Given the description of an element on the screen output the (x, y) to click on. 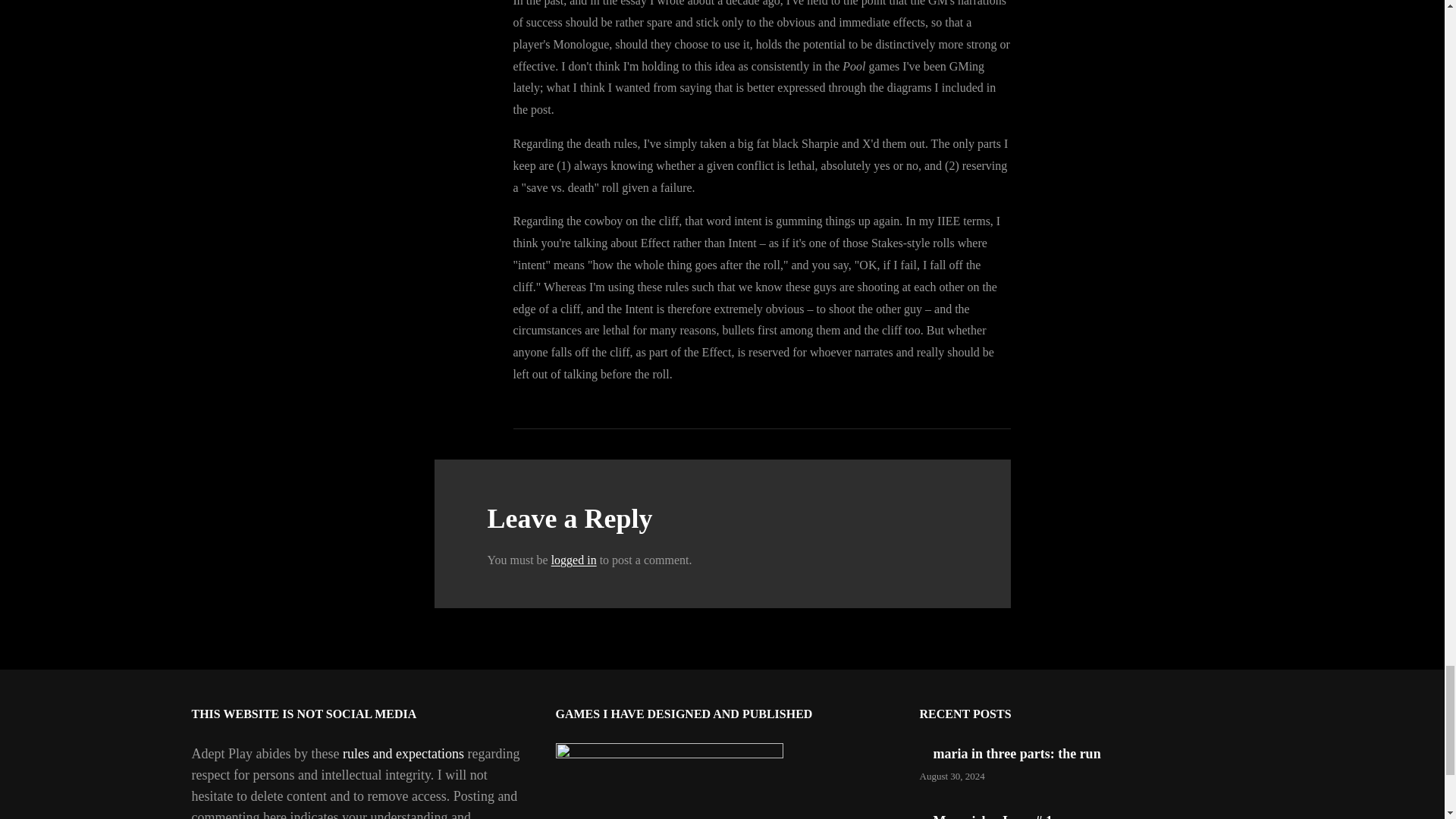
maria in three parts: the run (1016, 753)
logged in (573, 559)
rules and expectations (403, 753)
